Given the description of an element on the screen output the (x, y) to click on. 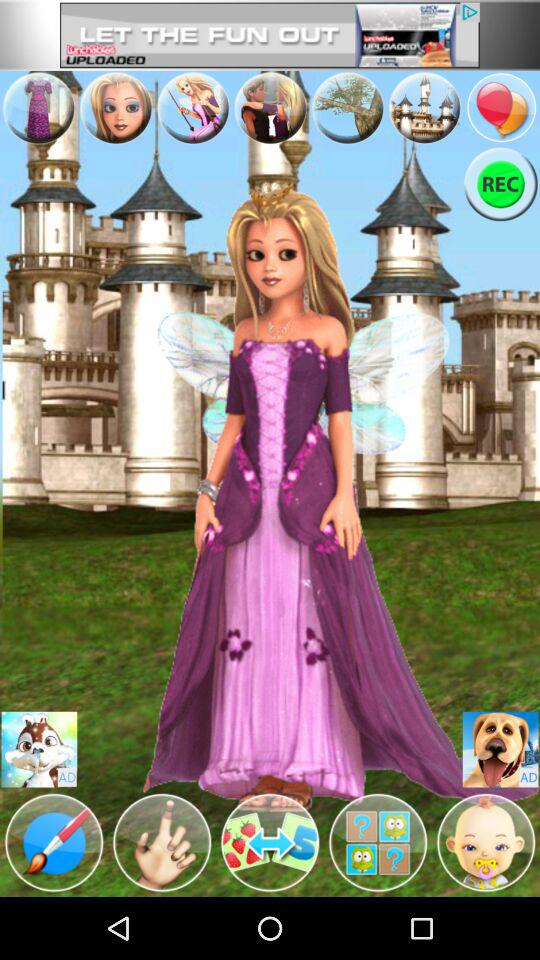
filter (378, 843)
